Given the description of an element on the screen output the (x, y) to click on. 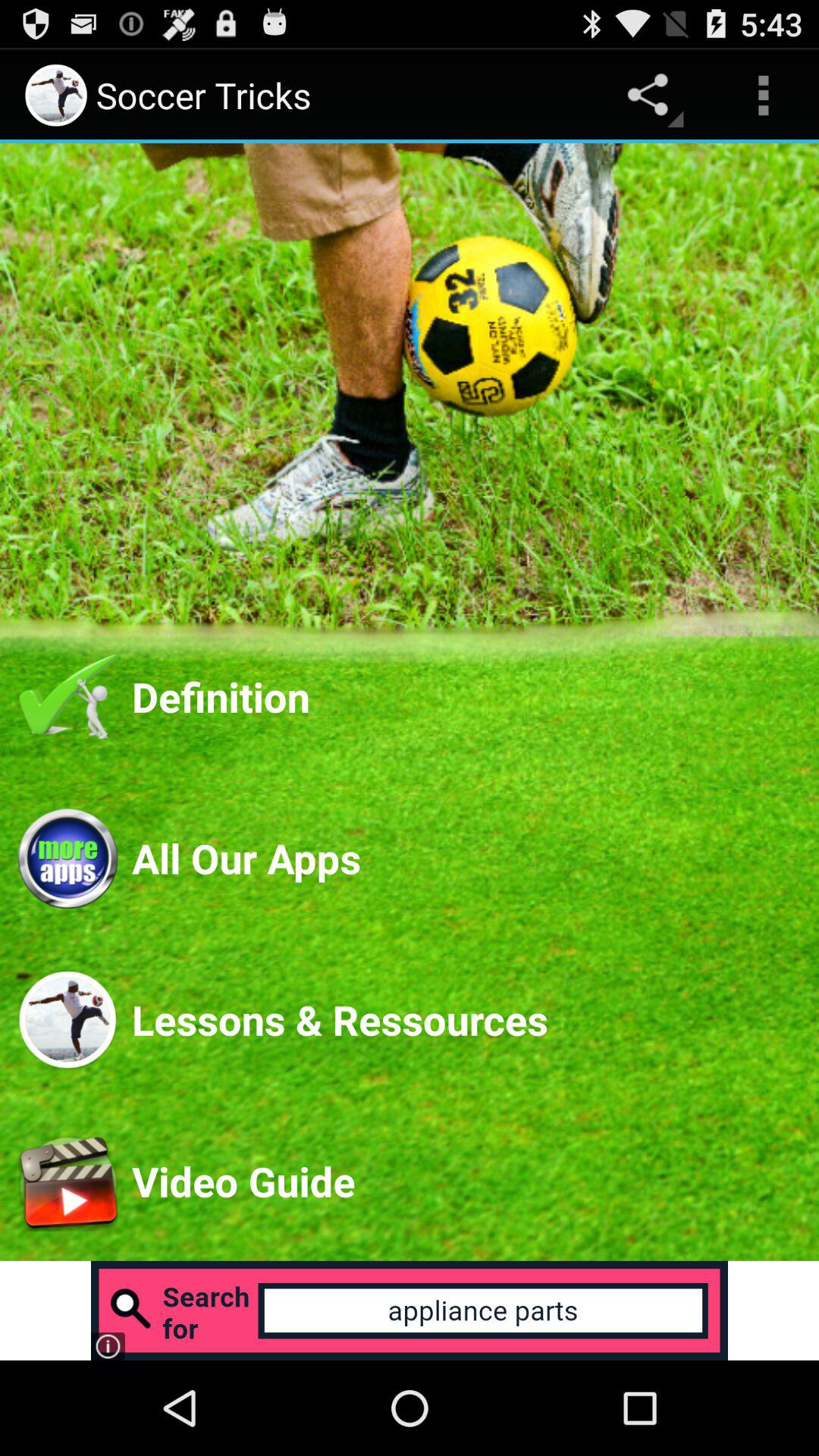
open item above video guide app (465, 1019)
